Given the description of an element on the screen output the (x, y) to click on. 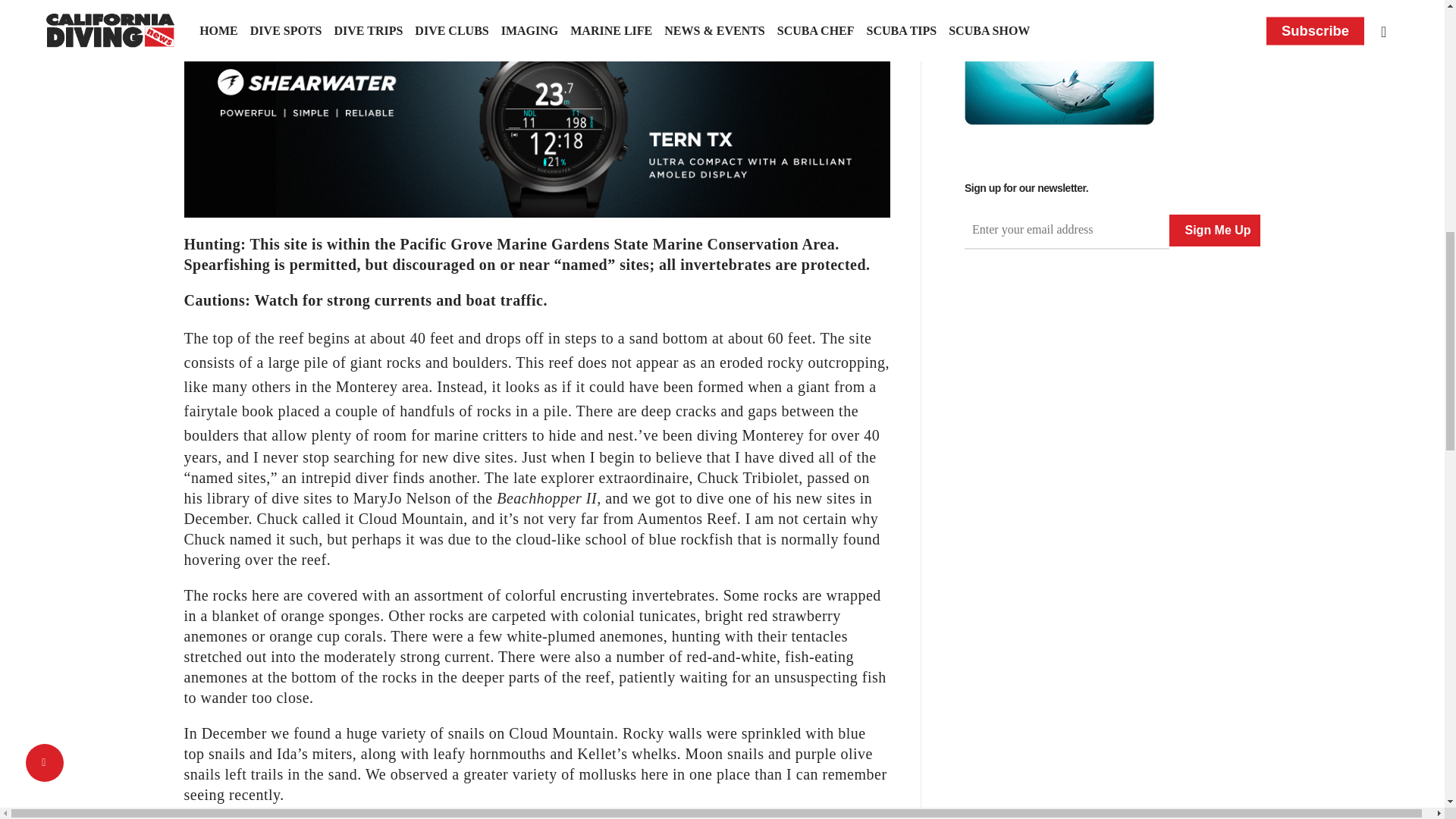
Sign Me Up (1214, 230)
Sign Me Up (1214, 230)
